Given the description of an element on the screen output the (x, y) to click on. 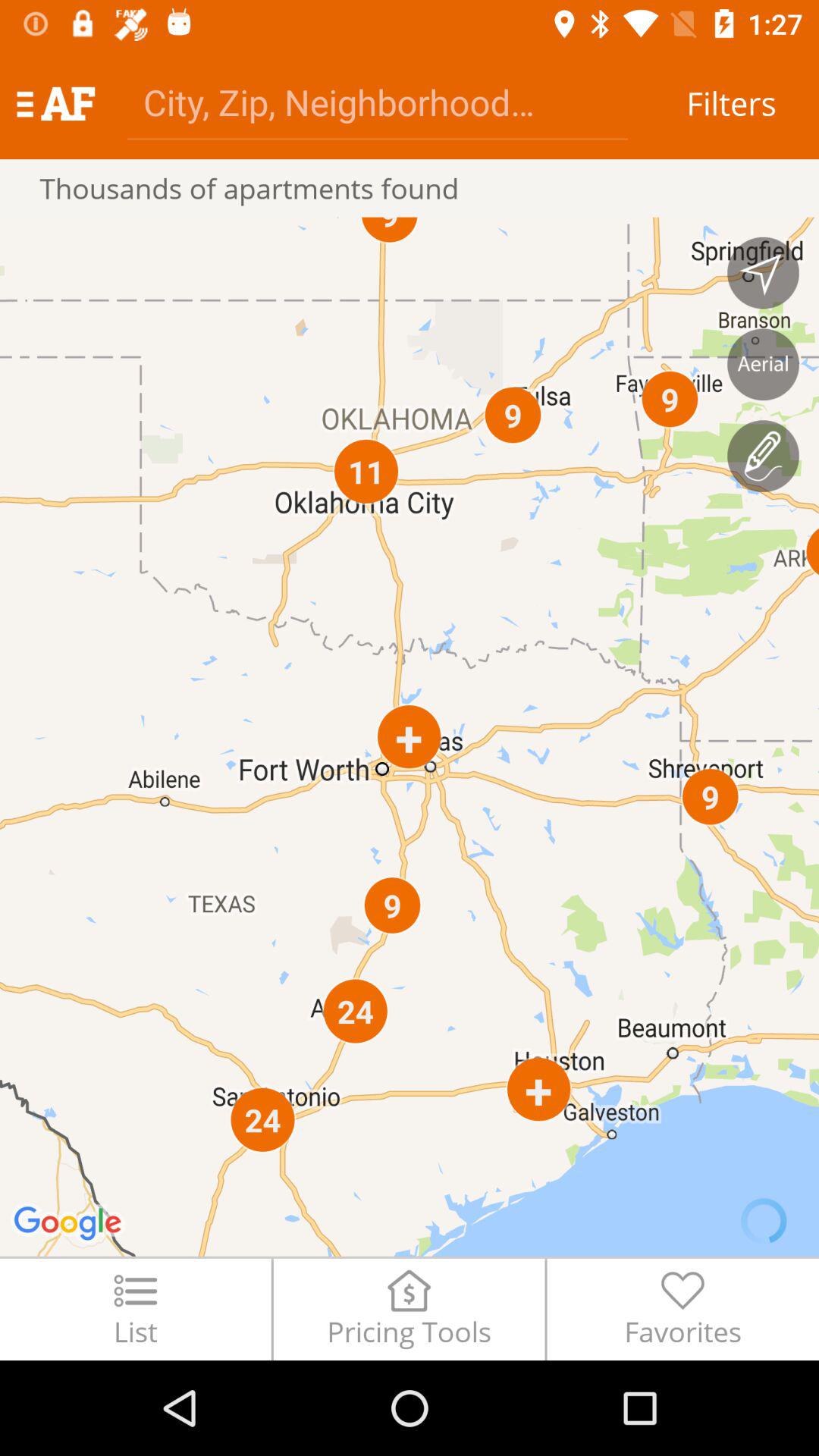
turn on item above the thousands of apartments item (55, 103)
